Given the description of an element on the screen output the (x, y) to click on. 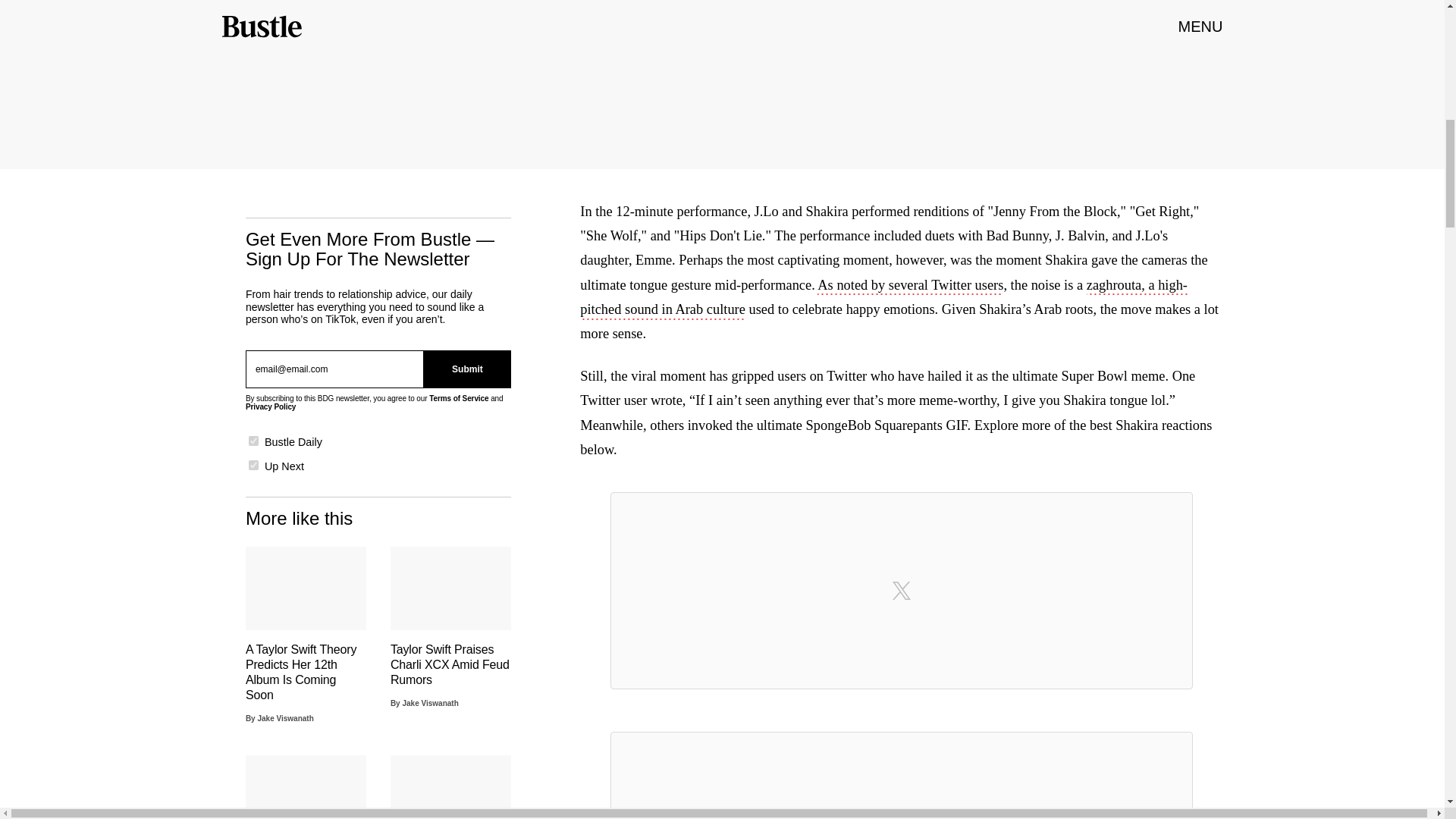
As noted by several Twitter users (909, 286)
zaghrouta, a high-pitched sound in Arab culture (883, 298)
Terms of Service (458, 397)
Submit (467, 369)
Privacy Policy (270, 406)
